Given the description of an element on the screen output the (x, y) to click on. 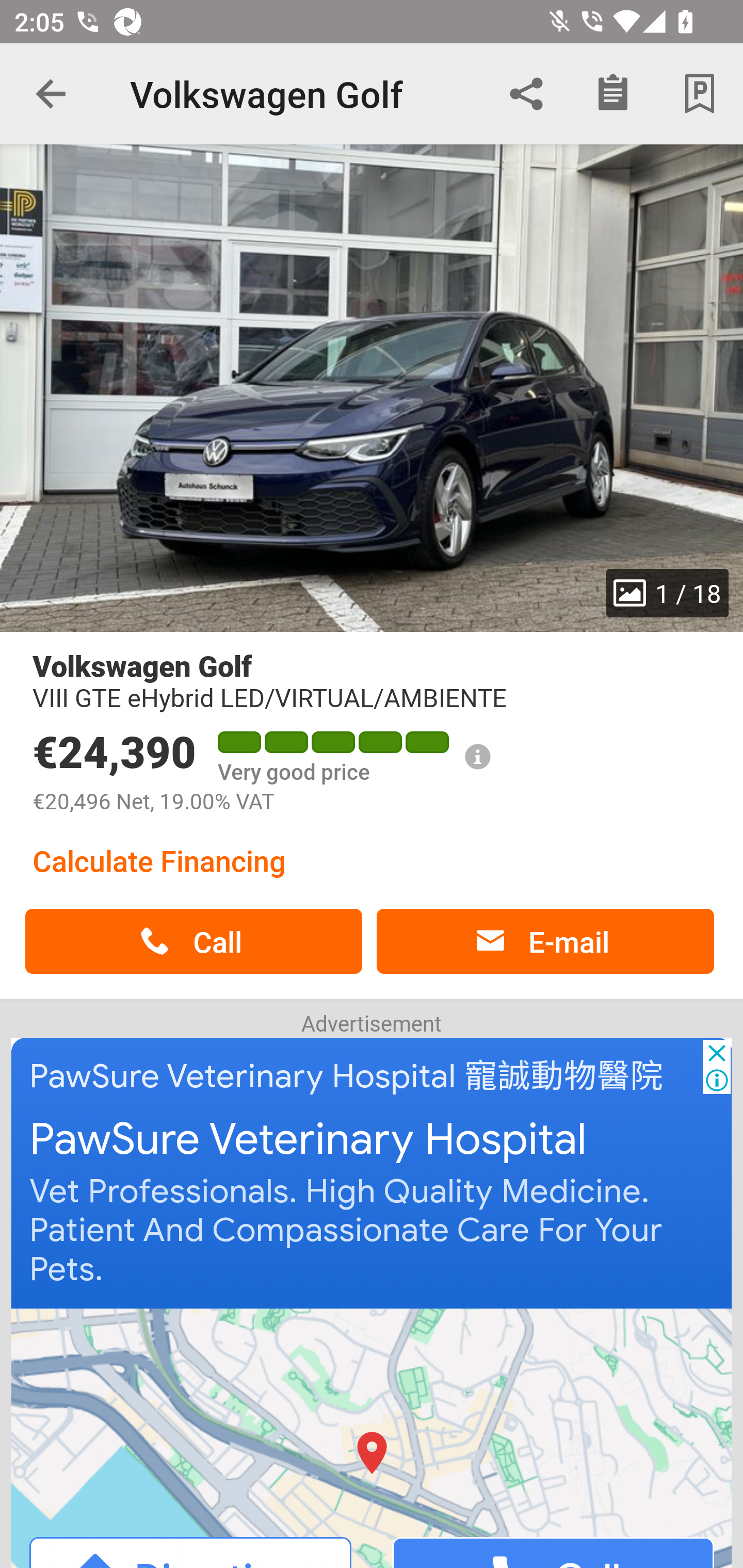
Navigate up (50, 93)
Share via (525, 93)
Checklist (612, 93)
Park (699, 93)
Calculate Financing (159, 859)
Call (193, 941)
E-mail (545, 941)
PawSure Veterinary Hospital 寵誠動物醫院 (346, 1076)
PawSure Veterinary Hospital (307, 1139)
Directions Call Directions Call (372, 1437)
